Given the description of an element on the screen output the (x, y) to click on. 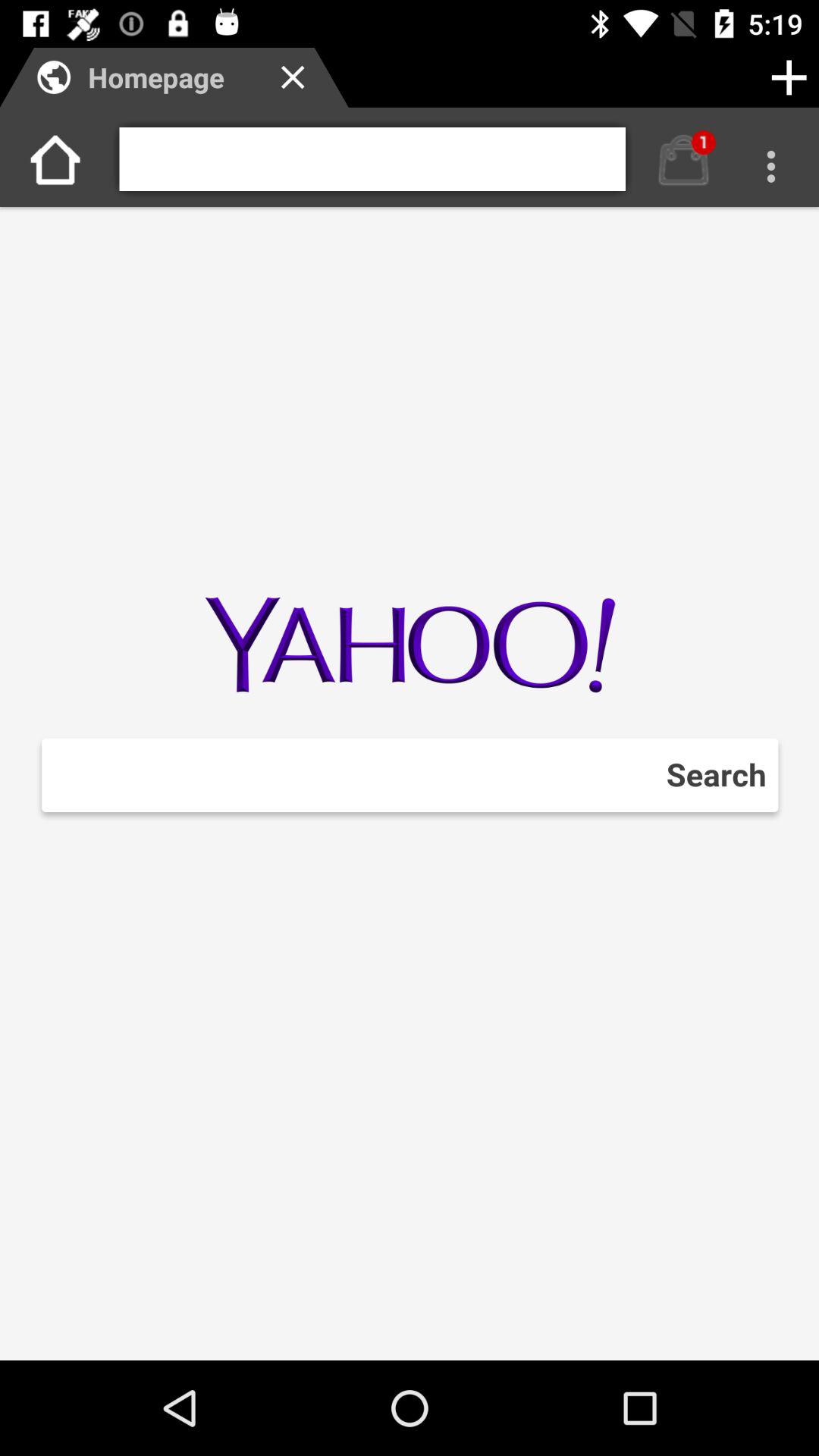
add tab (789, 77)
